Given the description of an element on the screen output the (x, y) to click on. 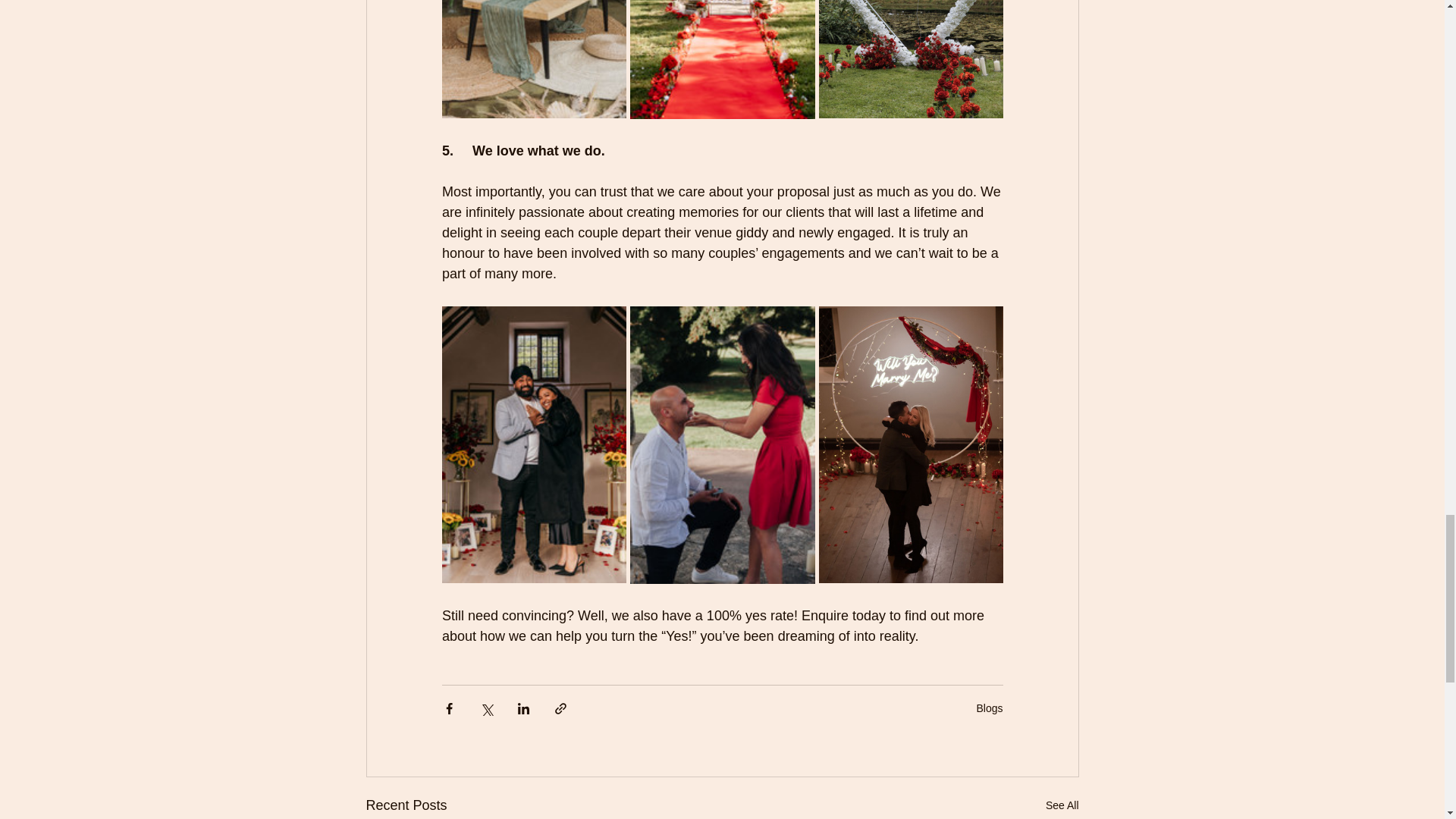
See All (1061, 805)
Blogs (989, 707)
